Given the description of an element on the screen output the (x, y) to click on. 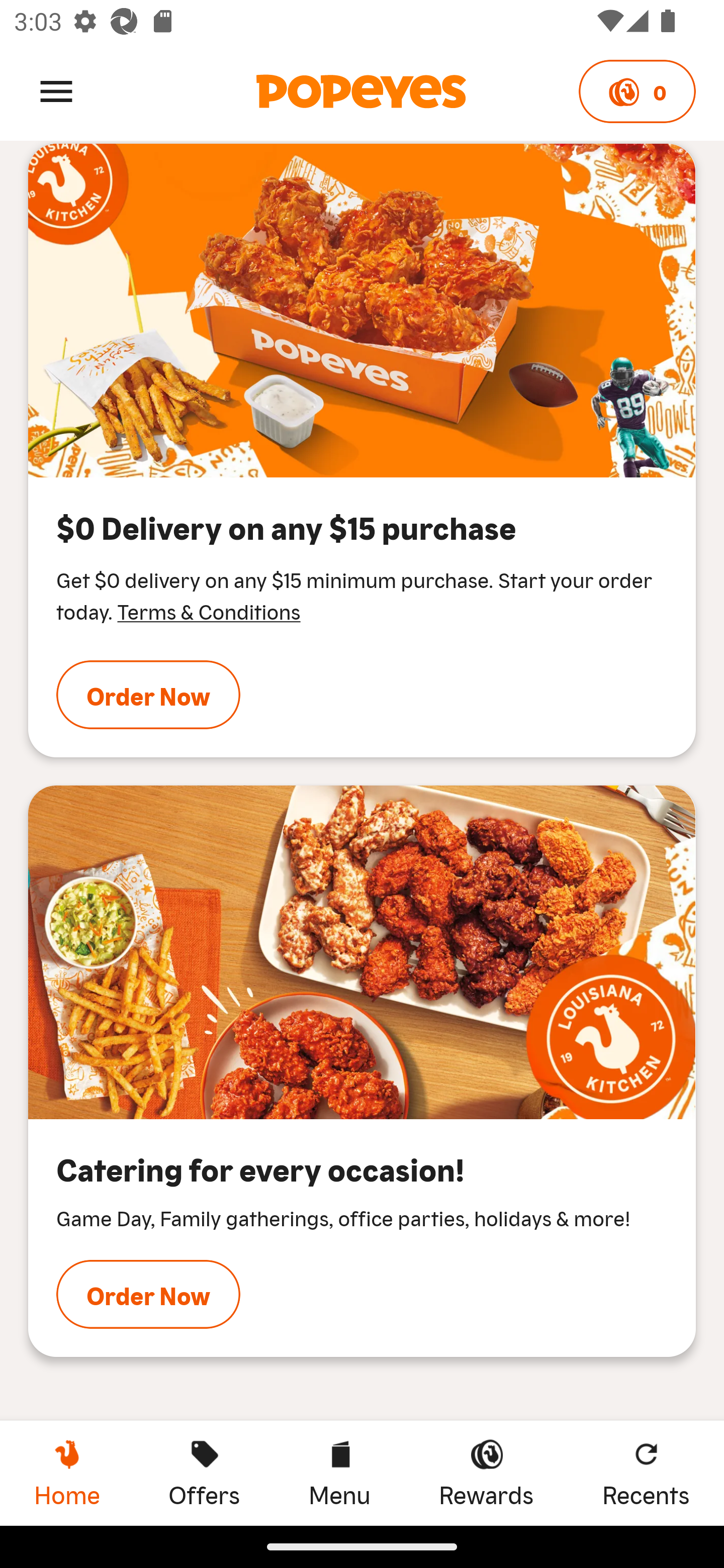
Menu  (56, 90)
0 Points 0 (636, 91)
Popeyes Wings (361, 310)
Order Now (148, 694)
Catering for every occasion! (361, 952)
Order Now (148, 1294)
Home, current page Home Home, current page (66, 1472)
Offers Offers Offers (203, 1472)
Menu Menu Menu (339, 1472)
Rewards Rewards Rewards (486, 1472)
Recents Recents Recents (646, 1472)
